Given the description of an element on the screen output the (x, y) to click on. 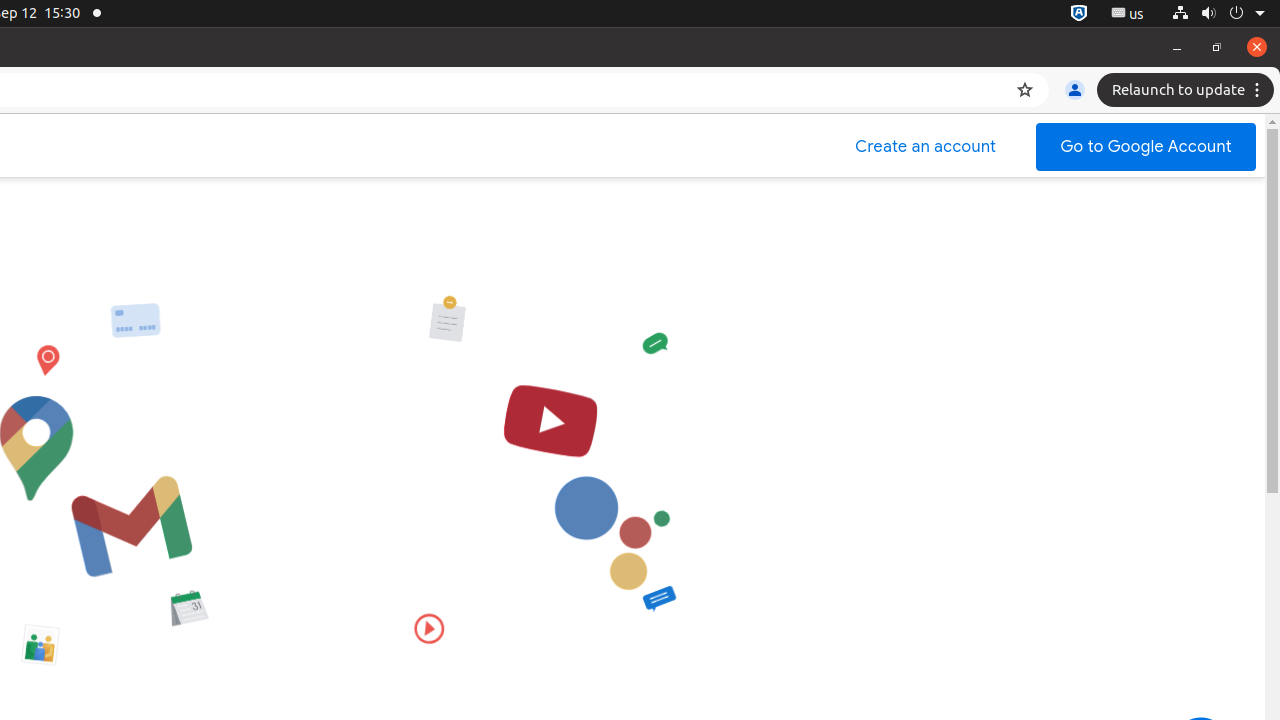
:1.21/StatusNotifierItem Element type: menu (1127, 13)
Create a Google Account Element type: link (926, 147)
:1.72/StatusNotifierItem Element type: menu (1079, 13)
Relaunch to update Element type: push-button (1188, 90)
You Element type: push-button (1075, 90)
